Given the description of an element on the screen output the (x, y) to click on. 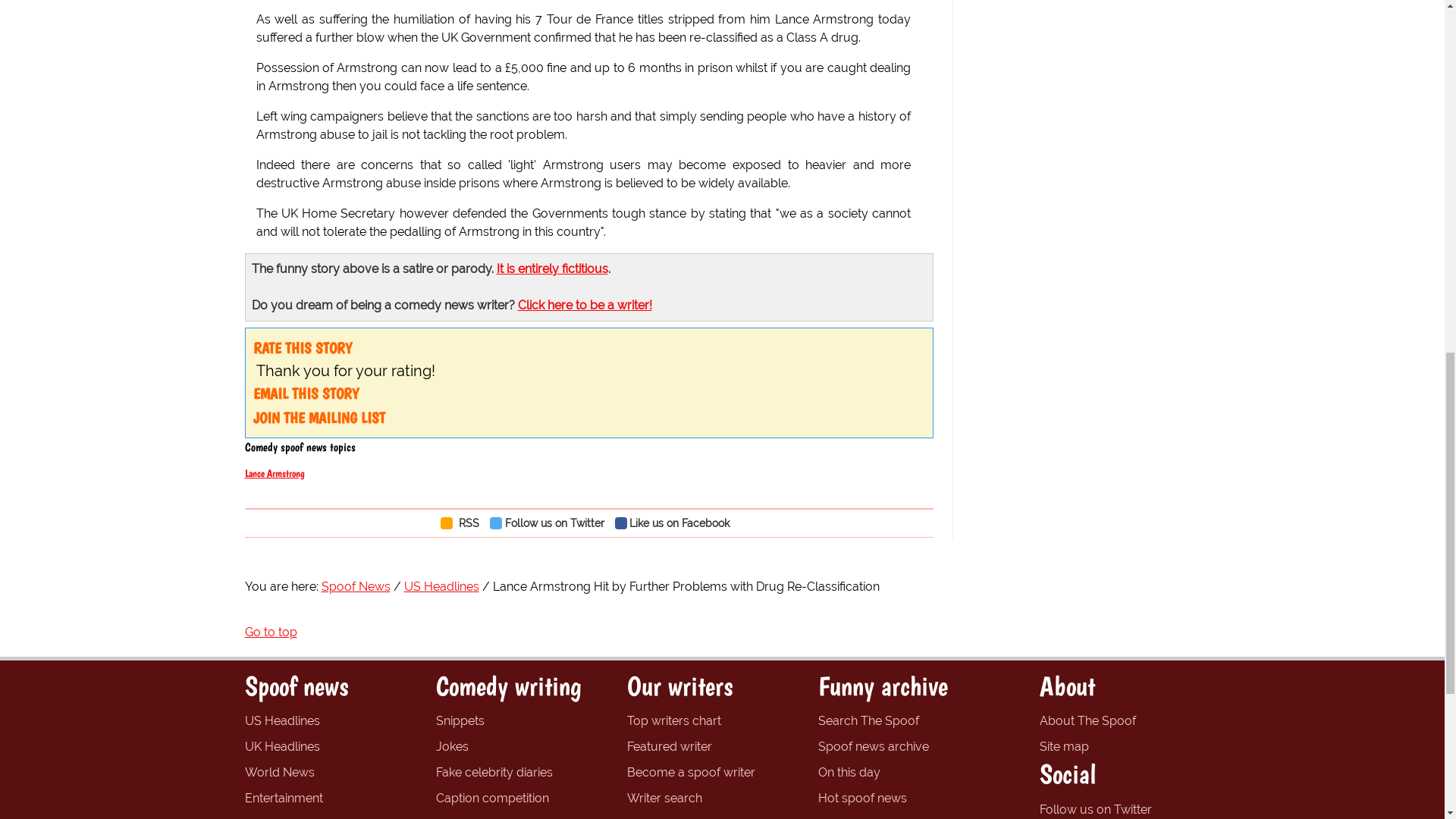
EMAIL THIS STORY (305, 393)
Go to top (270, 631)
US Headlines (441, 586)
It is entirely fictitious (551, 268)
Like us on Facebook (676, 522)
RSS (463, 522)
Spoof News (355, 586)
Follow us on Twitter (550, 522)
Click here to be a writer! (583, 305)
JOIN THE MAILING LIST (319, 417)
Spoof News US Headlines (281, 720)
Lance Armstrong (274, 472)
View RSS Feed (463, 522)
